Given the description of an element on the screen output the (x, y) to click on. 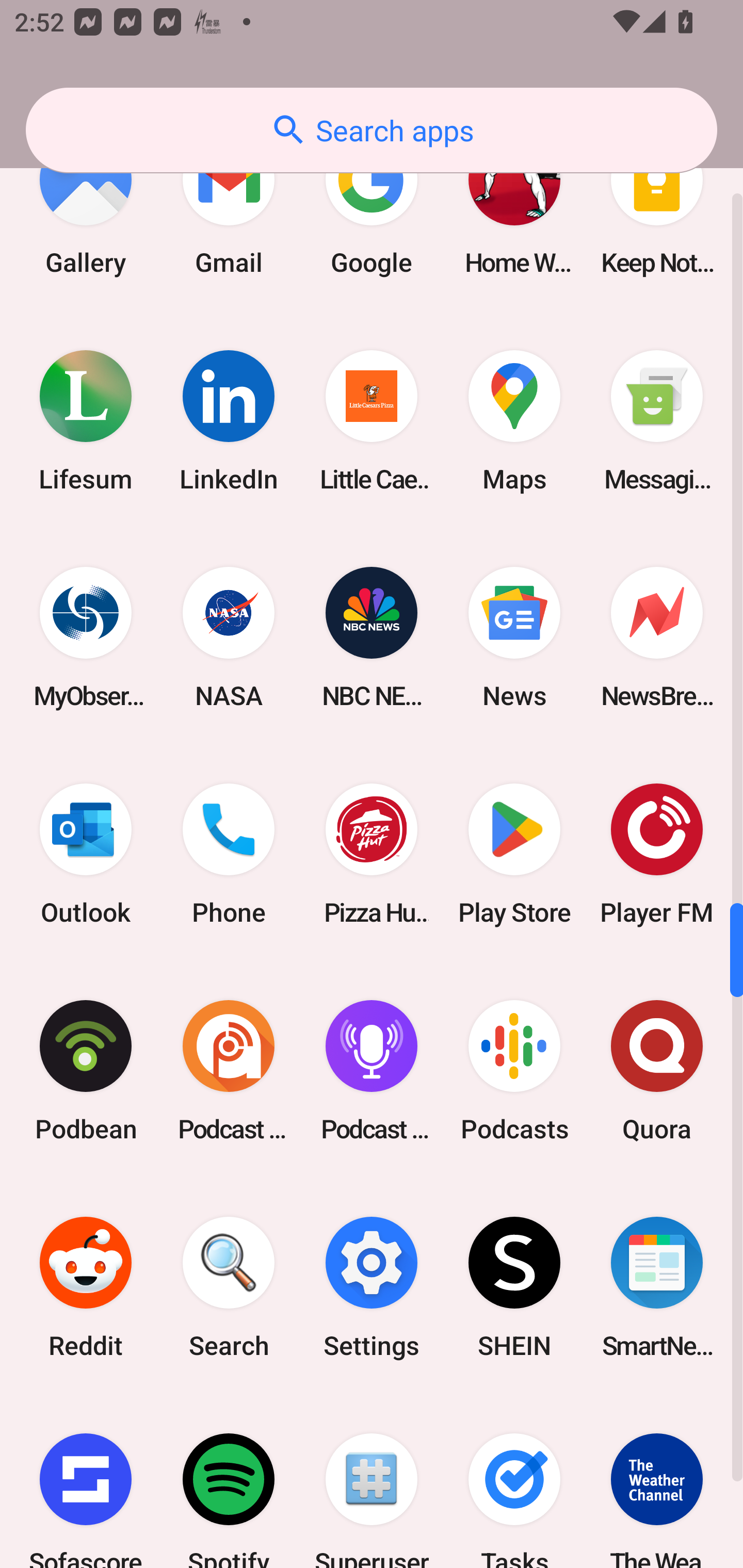
  Search apps (371, 130)
Gallery (85, 207)
Gmail (228, 207)
Google (371, 207)
Home Workout (514, 207)
Keep Notes (656, 207)
Lifesum (85, 420)
LinkedIn (228, 420)
Little Caesars Pizza (371, 420)
Maps (514, 420)
Messaging (656, 420)
MyObservatory (85, 637)
NASA (228, 637)
NBC NEWS (371, 637)
News (514, 637)
NewsBreak (656, 637)
Outlook (85, 854)
Phone (228, 854)
Pizza Hut HK & Macau (371, 854)
Play Store (514, 854)
Player FM (656, 854)
Podbean (85, 1070)
Podcast Addict (228, 1070)
Podcast Player (371, 1070)
Podcasts (514, 1070)
Quora (656, 1070)
Reddit (85, 1287)
Search (228, 1287)
Settings (371, 1287)
SHEIN (514, 1287)
SmartNews (656, 1287)
Sofascore (85, 1481)
Spotify (228, 1481)
Superuser (371, 1481)
Tasks (514, 1481)
The Weather Channel (656, 1481)
